Given the description of an element on the screen output the (x, y) to click on. 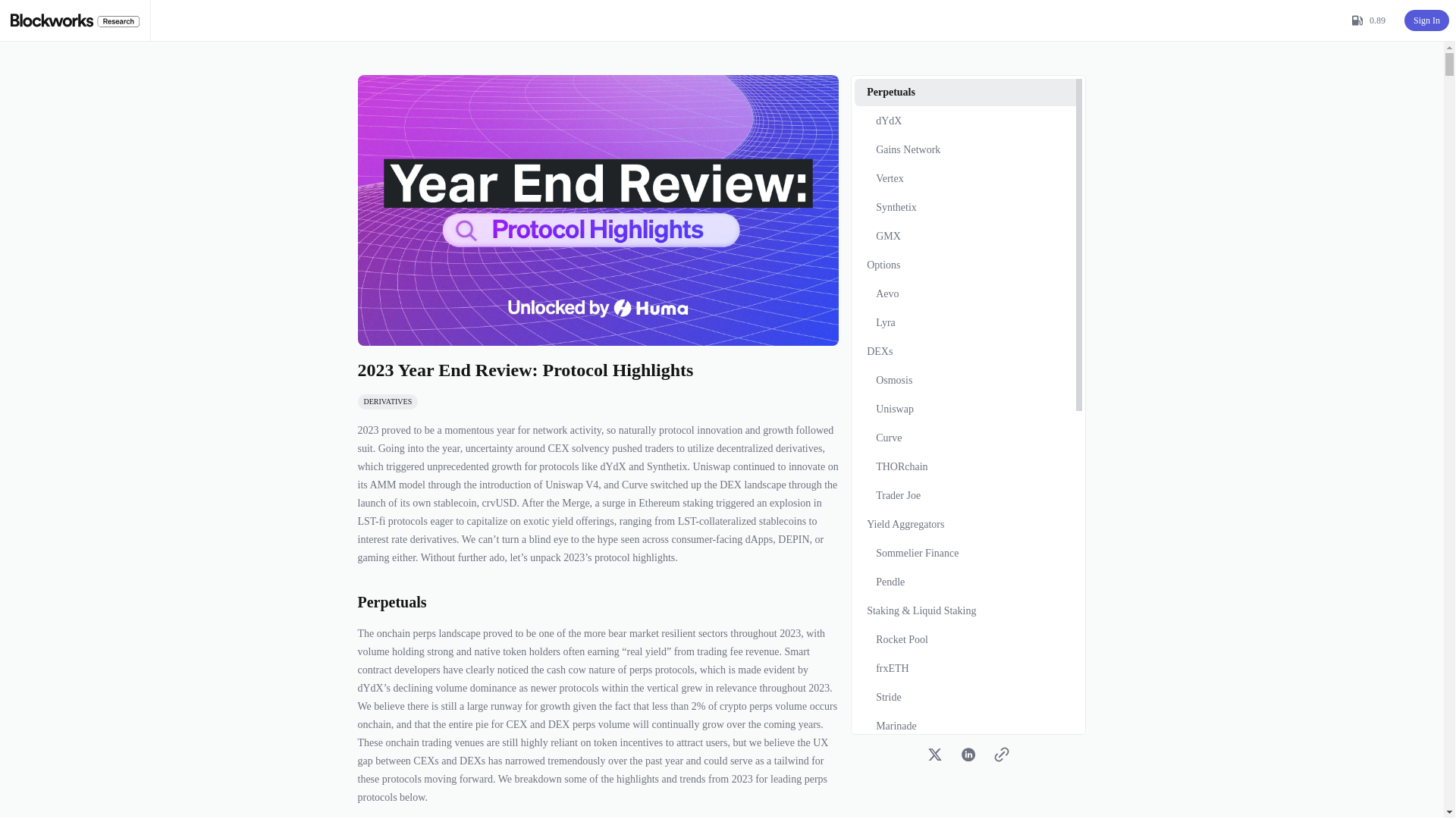
0.89 (1367, 19)
Sign In (1426, 19)
DERIVATIVES (388, 401)
